Given the description of an element on the screen output the (x, y) to click on. 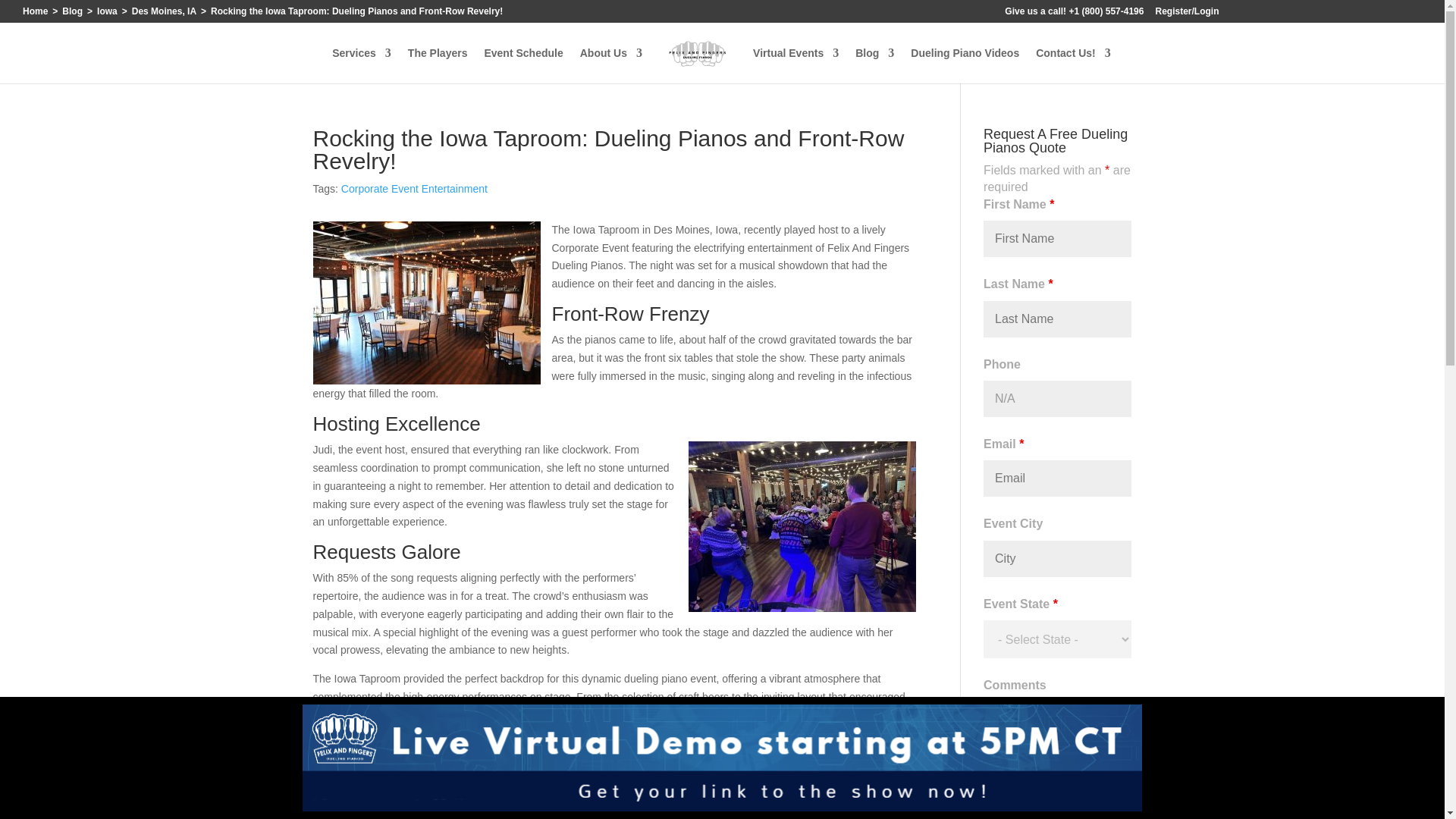
Des Moines, IA (164, 10)
Contact Us! (1072, 65)
Dueling Piano Videos (965, 65)
Services (361, 65)
The Players (437, 65)
Blog (72, 10)
Blog (874, 65)
About Us (610, 65)
Event Schedule (522, 65)
Virtual Events (795, 65)
Home (35, 10)
Iowa (107, 10)
